Given the description of an element on the screen output the (x, y) to click on. 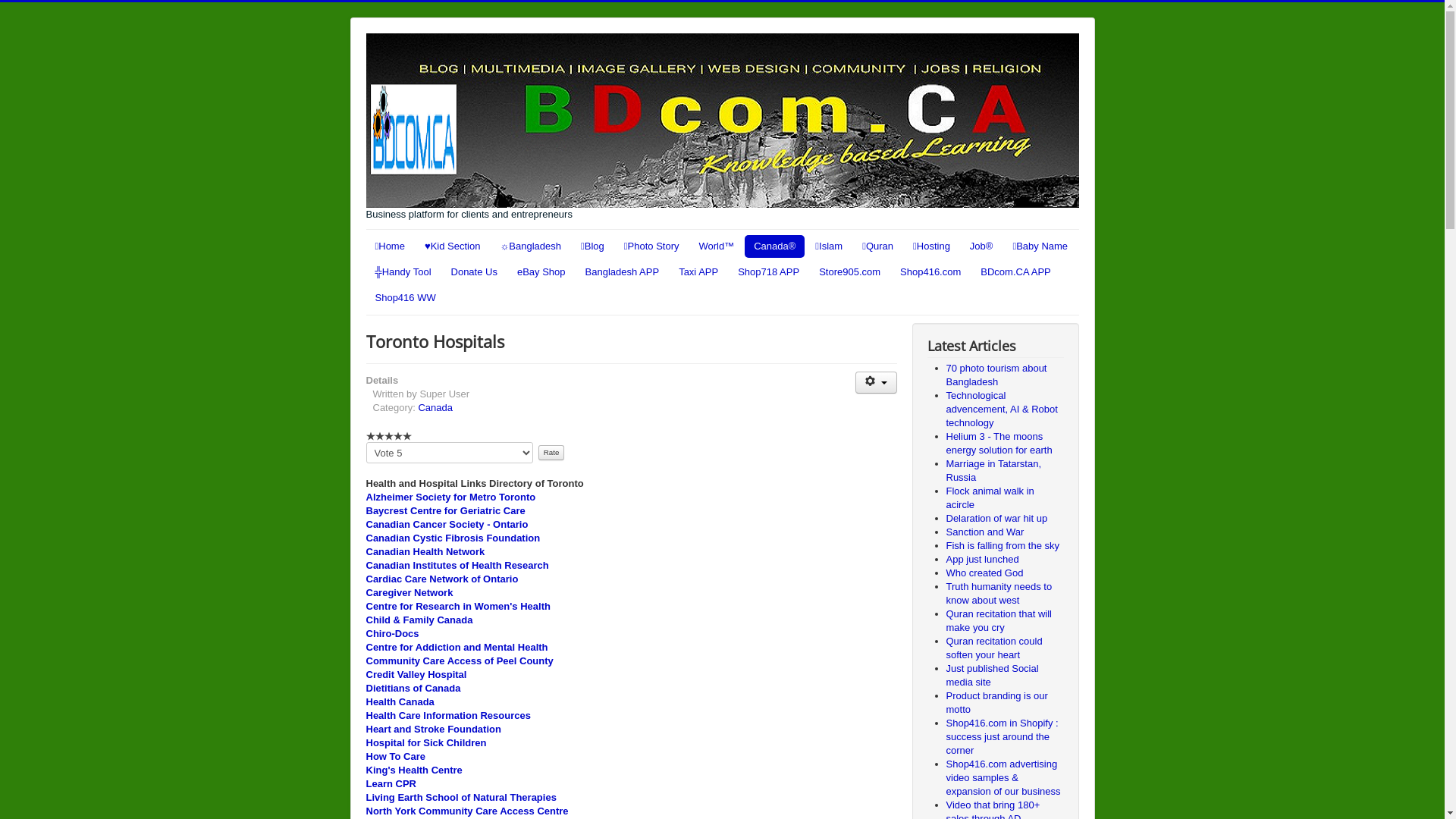
Shop416 WW Element type: text (404, 297)
Product branding is our motto Element type: text (997, 702)
Technological advencement, AI & Robot technology Element type: text (1001, 408)
Shop718 APP Element type: text (768, 271)
Health Care Information Resources Element type: text (447, 715)
Flock animal walk in acircle Element type: text (990, 497)
Delaration of war hit up Element type: text (997, 518)
Heart and Stroke Foundation Element type: text (432, 728)
Cardiac Care Network of Ontario Element type: text (441, 578)
Fish is falling from the sky Element type: text (1003, 545)
Marriage in Tatarstan, Russia Element type: text (993, 470)
Store905.com Element type: text (849, 271)
Centre for Research in Women's Health Element type: text (457, 605)
Canadian Health Network Element type: text (424, 551)
Truth humanity needs to know about west Element type: text (999, 592)
Canadian Cystic Fibrosis Foundation Element type: text (452, 537)
Shop416.com Element type: text (930, 271)
Chiro-Docs Element type: text (391, 633)
Canadian Institutes of Health Research Element type: text (456, 565)
Who created God Element type: text (984, 572)
Hospital for Sick Children Element type: text (425, 742)
Living Earth School of Natural Therapies Element type: text (460, 797)
Just published Social media site Element type: text (992, 674)
Centre for Addiction and Mental Health Element type: text (456, 646)
Shop416.com in Shopify : success just around the corner Element type: text (1002, 736)
Dietitians of Canada Element type: text (412, 687)
Health Canada Element type: text (399, 701)
Rate Element type: text (551, 452)
Business platform for clients and entrepreneurs Element type: text (721, 127)
Canadian Cancer Society - Ontario Element type: text (446, 524)
Credit Valley Hospital Element type: text (415, 674)
North York Community Care Access Centre Element type: text (466, 810)
Helium 3 - The moons energy solution for earth Element type: text (999, 442)
Sanction and War Element type: text (985, 531)
BDcom.CA APP Element type: text (1015, 271)
eBay Shop Element type: text (541, 271)
King's Health Centre Element type: text (413, 769)
Quran recitation that will make you cry Element type: text (998, 620)
App just lunched Element type: text (982, 558)
Baycrest Centre for Geriatric Care Element type: text (444, 510)
Taxi APP Element type: text (698, 271)
Canada Element type: text (434, 407)
Learn CPR Element type: text (390, 783)
70 photo tourism about Bangladesh Element type: text (996, 374)
Donate Us Element type: text (474, 271)
Community Care Access of Peel County Element type: text (458, 660)
Quran recitation could soften your heart Element type: text (994, 647)
Bangladesh APP Element type: text (622, 271)
Child & Family Canada Element type: text (418, 619)
How To Care Element type: text (395, 756)
Alzheimer Society for Metro Toronto Element type: text (450, 496)
Caregiver Network Element type: text (408, 592)
